Given the description of an element on the screen output the (x, y) to click on. 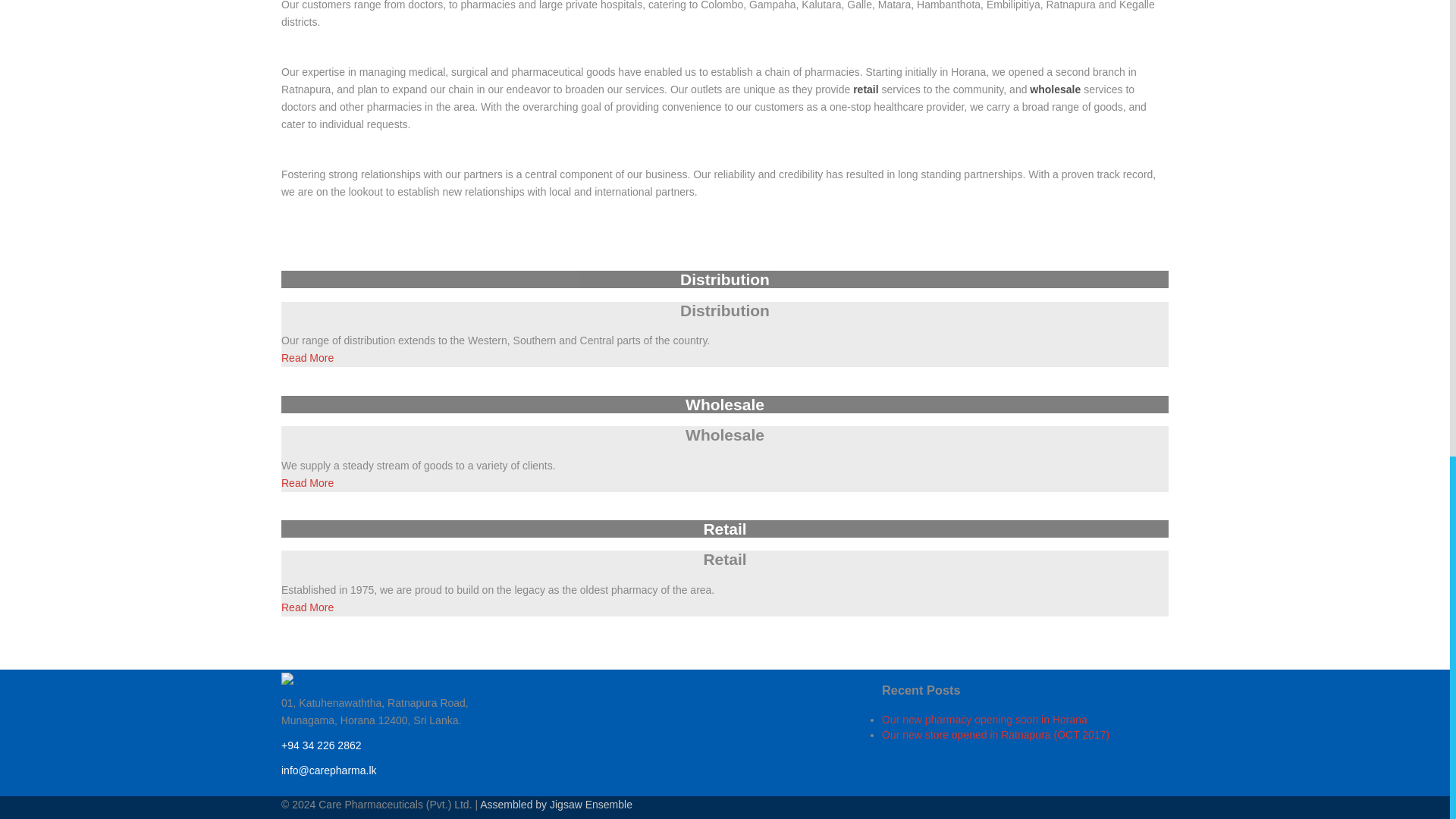
Read More (307, 482)
Read More (307, 357)
Our new pharmacy opening soon in Horana (984, 719)
retail (865, 89)
wholesale (1054, 89)
Read More (307, 607)
Assembled by Jigsaw Ensemble (555, 804)
